Given the description of an element on the screen output the (x, y) to click on. 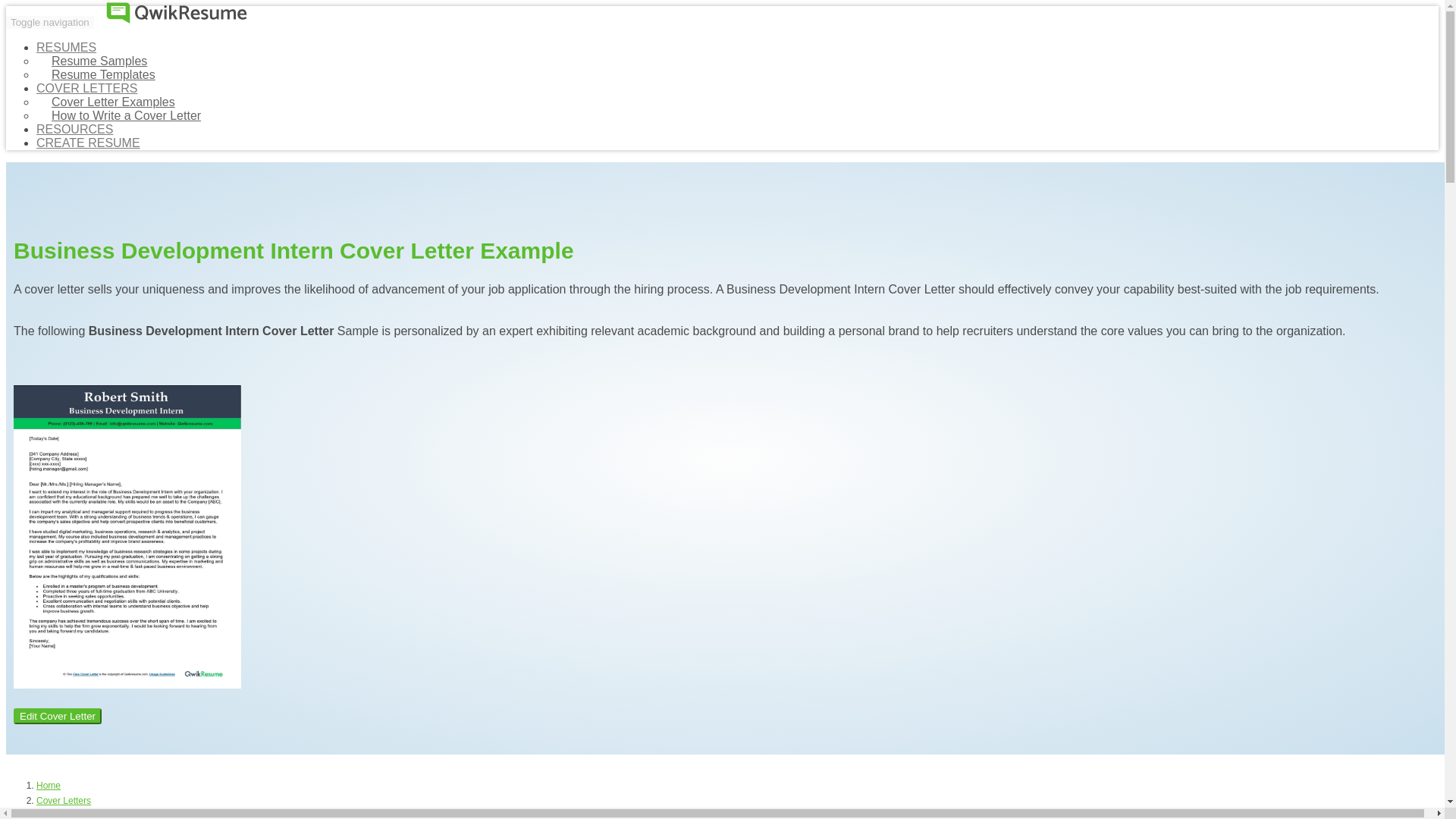
Cover Letters (63, 800)
COVER LETTERS (86, 88)
CREATE RESUME (87, 142)
Toggle navigation (49, 21)
RESOURCES (74, 128)
Resume Samples (98, 60)
How to Write a Cover Letter (125, 115)
Create Resume (87, 142)
How to Write a Cover Letter (125, 115)
Resources (74, 128)
Cover Letter Examples (113, 101)
Business Development (82, 814)
Resume Samples (98, 60)
Cover Letter Examples (113, 101)
Edit Cover Letter (57, 715)
